Given the description of an element on the screen output the (x, y) to click on. 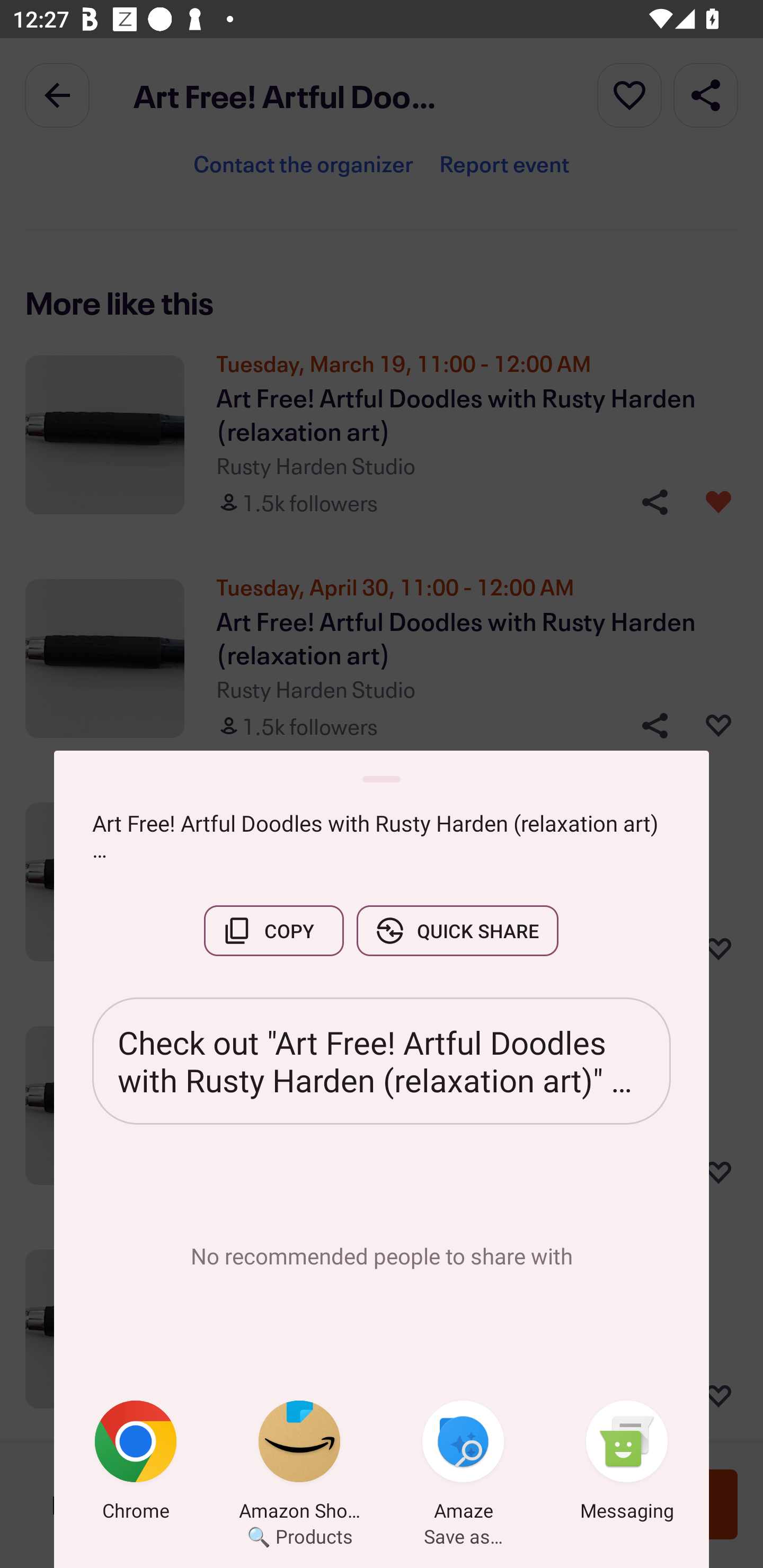
COPY (273, 930)
QUICK SHARE (457, 930)
Chrome (135, 1463)
Amazon Shopping 🔍 Products (299, 1463)
Amaze Save as… (463, 1463)
Messaging (626, 1463)
